Given the description of an element on the screen output the (x, y) to click on. 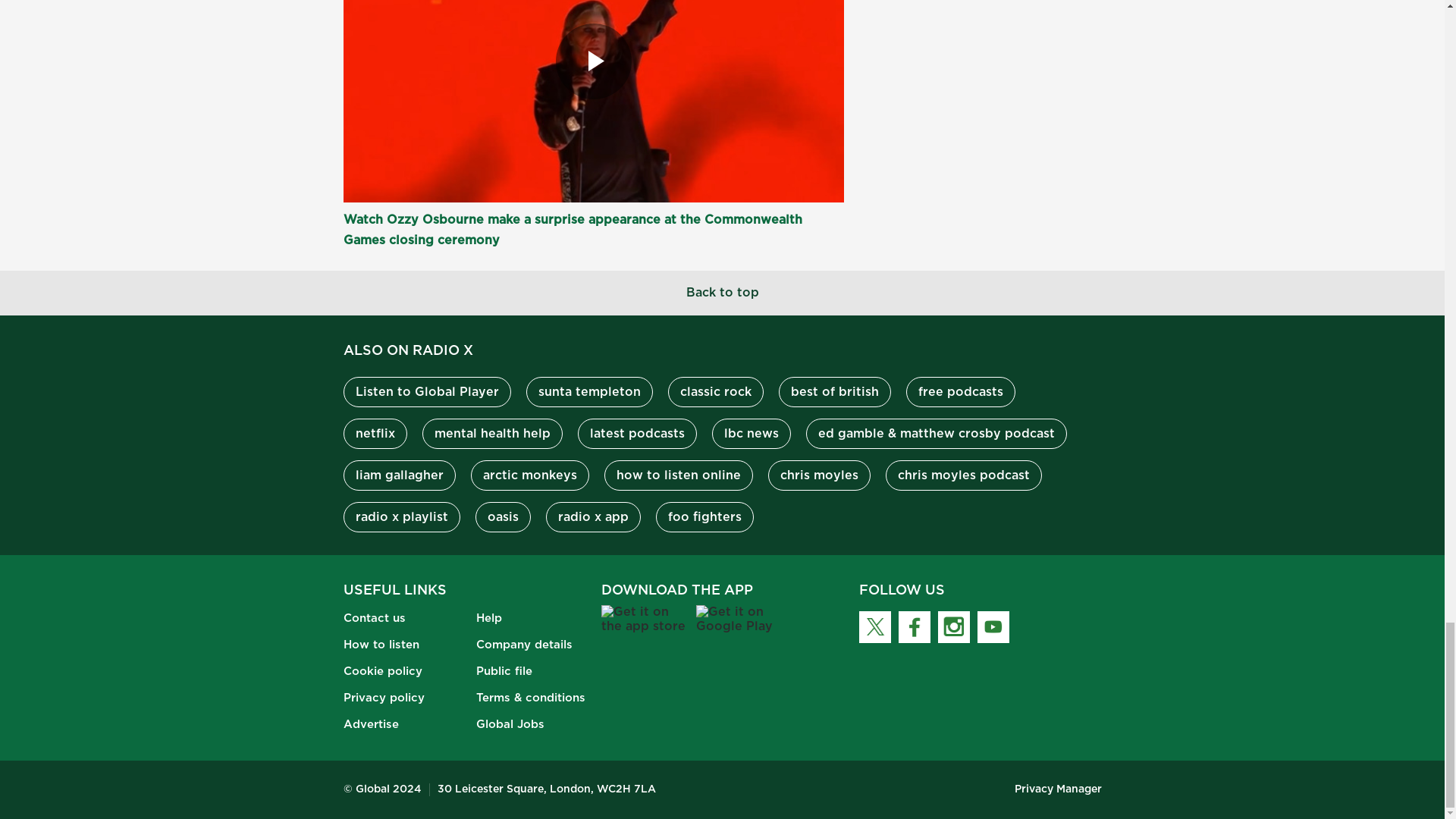
Follow RadioX on X (874, 626)
Follow RadioX on Instagram (953, 626)
Follow RadioX on Youtube (992, 626)
Back to top (721, 292)
Follow RadioX on Facebook (914, 626)
